Given the description of an element on the screen output the (x, y) to click on. 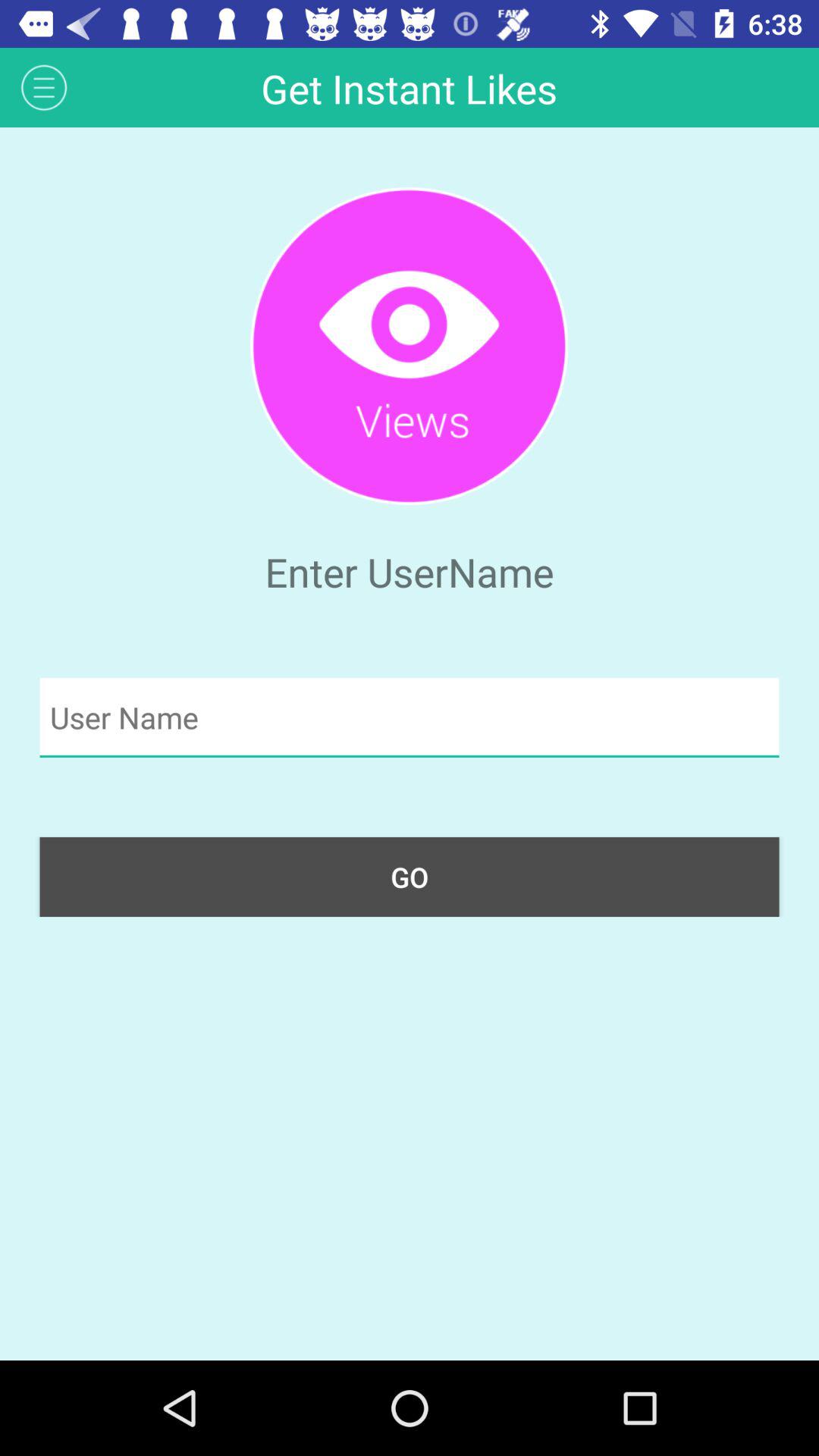
scroll until go icon (409, 876)
